Given the description of an element on the screen output the (x, y) to click on. 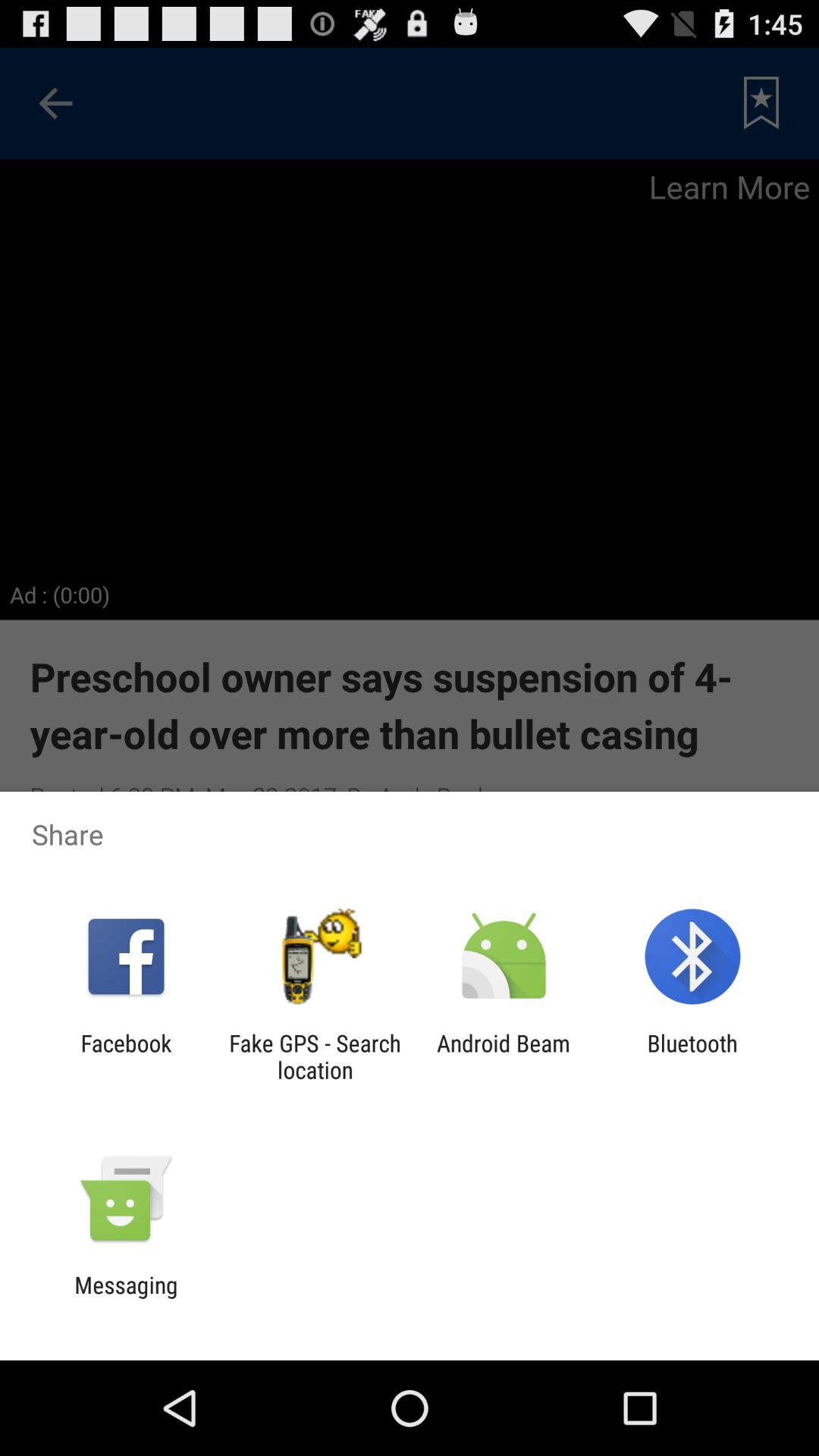
turn on the app next to the android beam (692, 1056)
